Given the description of an element on the screen output the (x, y) to click on. 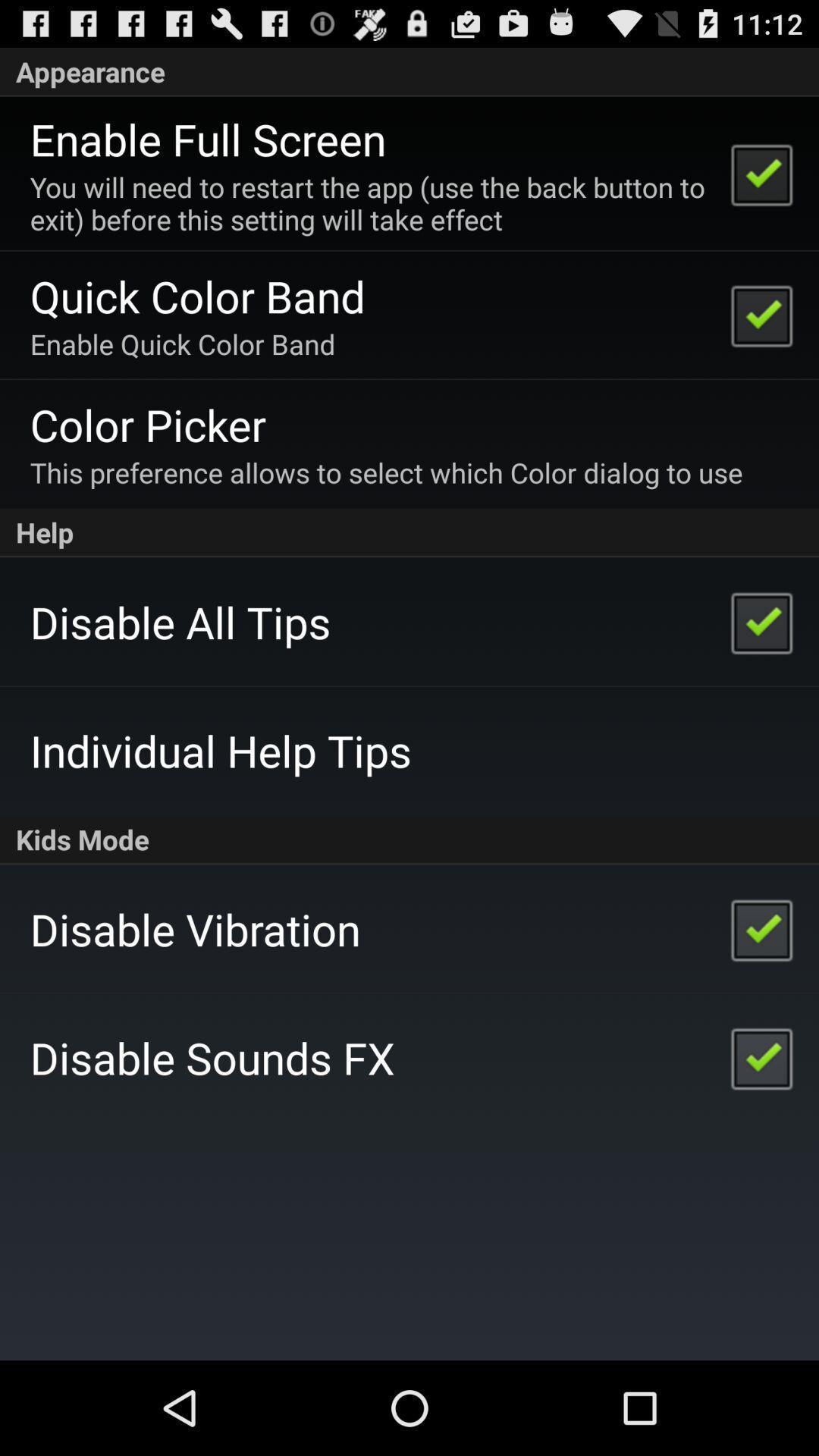
press item above you will need (208, 138)
